Given the description of an element on the screen output the (x, y) to click on. 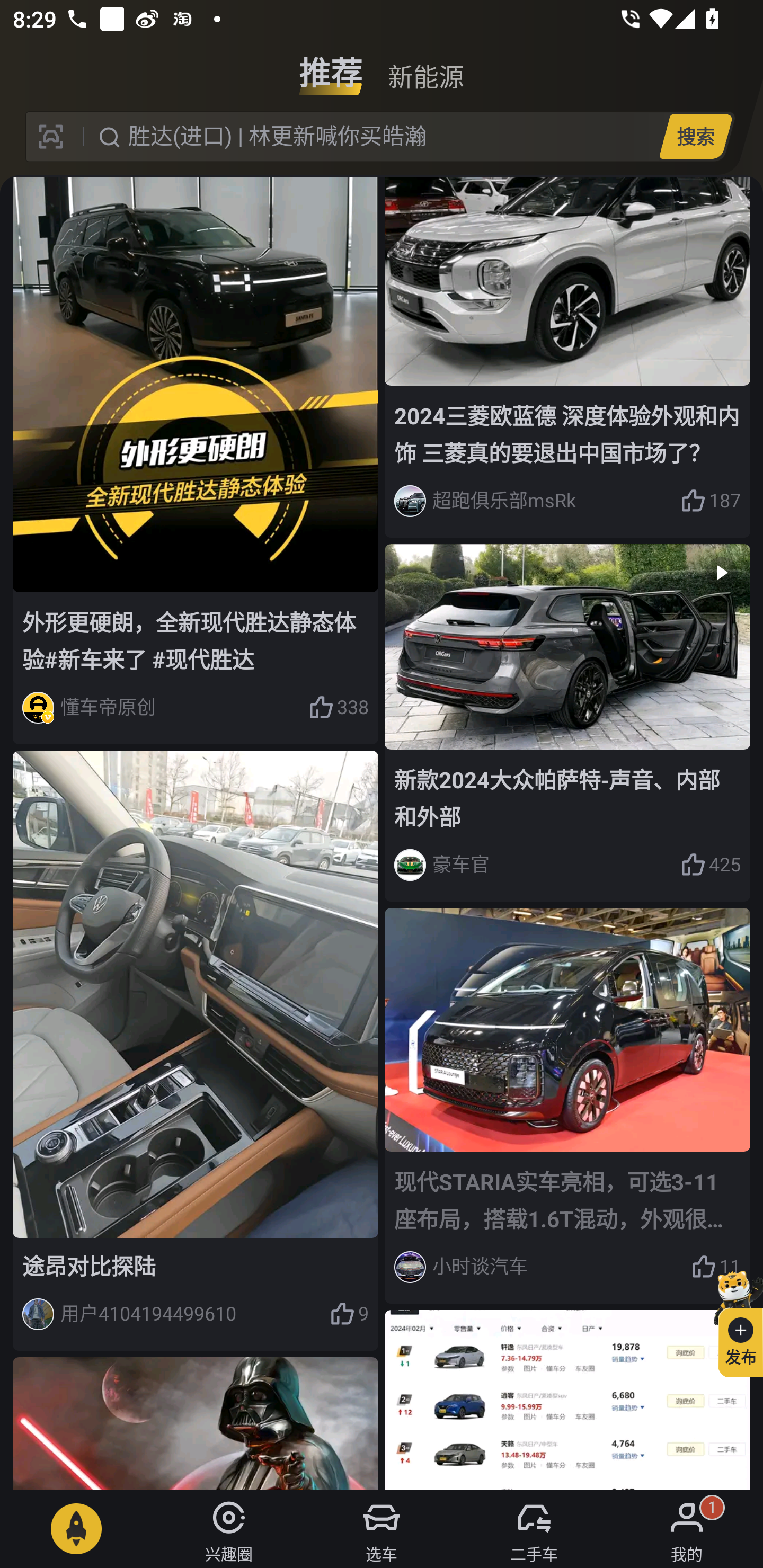
推荐 (330, 65)
新能源 (425, 65)
搜索 (695, 136)
外形更硬朗，全新现代胜达静态体验#新车来了 #现代胜达 懂车帝原创 338 (195, 460)
 2024三菱欧蓝德 深度体验外观和内饰 三菱真的要退出中国市场了？ 超跑俱乐部msRk 187 (567, 357)
187 (710, 500)
 新款2024大众帕萨特-声音、内部和外部 豪车官 425 (567, 722)
338 (338, 707)
途昂对比探陆 用户4104194499610 9 (195, 1050)
425 (710, 864)
现代STARIA实车亮相，可选3-11座布局，搭载1.6T混动，外观很时尚 小时谈汽车 11 (567, 1105)
11 (715, 1266)
发布 (732, 1321)
9 (348, 1313)
 兴趣圈 (228, 1528)
 选车 (381, 1528)
 二手车 (533, 1528)
 我的 (686, 1528)
